Given the description of an element on the screen output the (x, y) to click on. 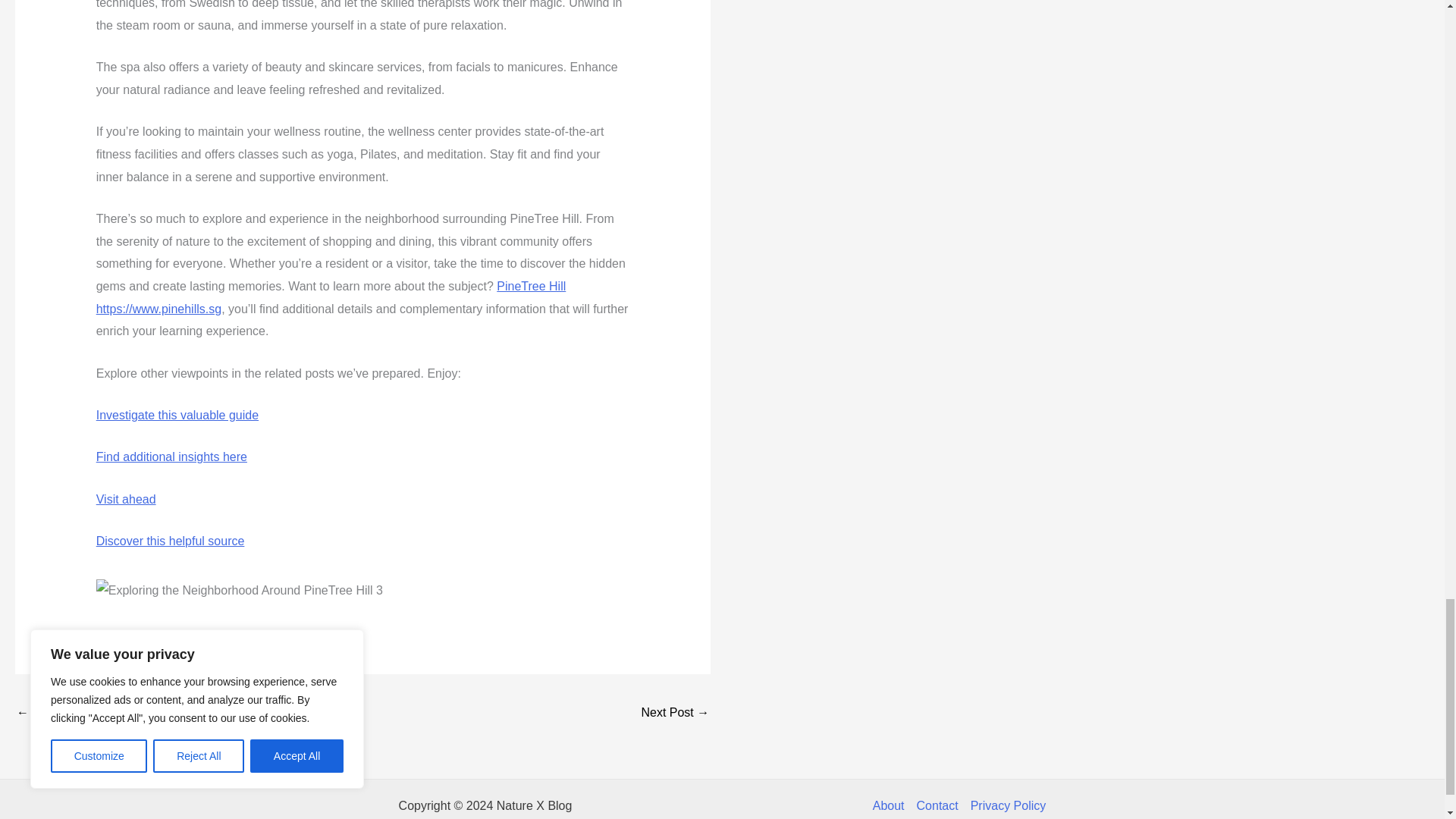
How to Make Nashville Hot Chicken at Home (61, 714)
Find additional insights here (171, 456)
The Importance of Chlorine Sensors in Wastewater Treatment (674, 714)
Discover this helpful source (170, 540)
Visit ahead (125, 499)
Investigate this valuable guide (177, 414)
